Given the description of an element on the screen output the (x, y) to click on. 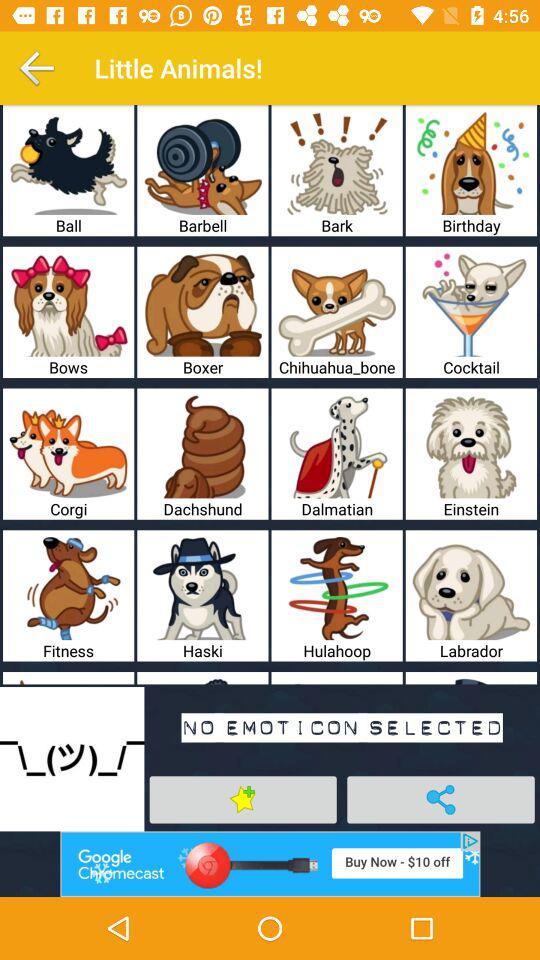
select back arrow (36, 68)
